Given the description of an element on the screen output the (x, y) to click on. 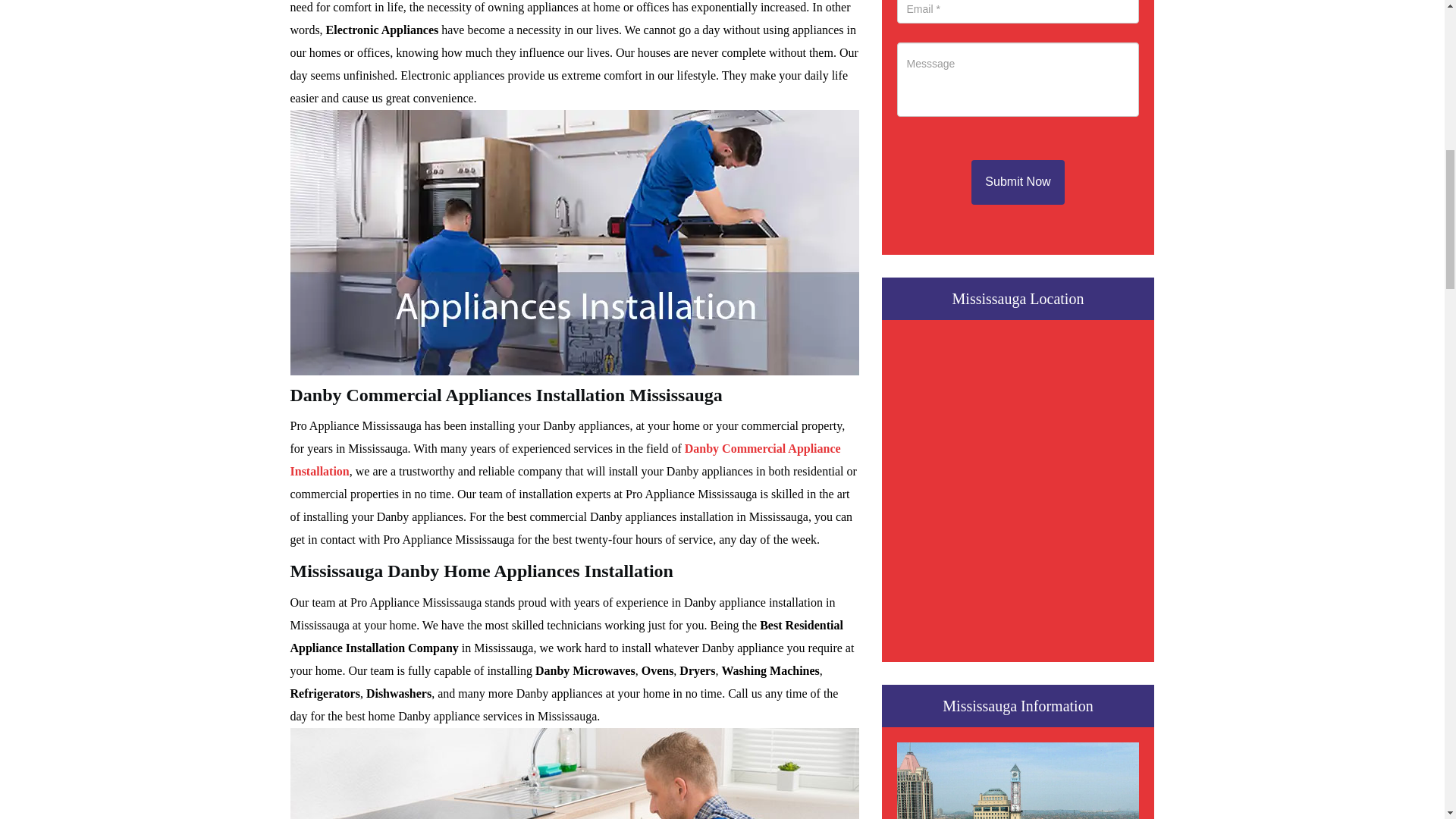
Danby Commercial Appliance Installation (564, 459)
